Given the description of an element on the screen output the (x, y) to click on. 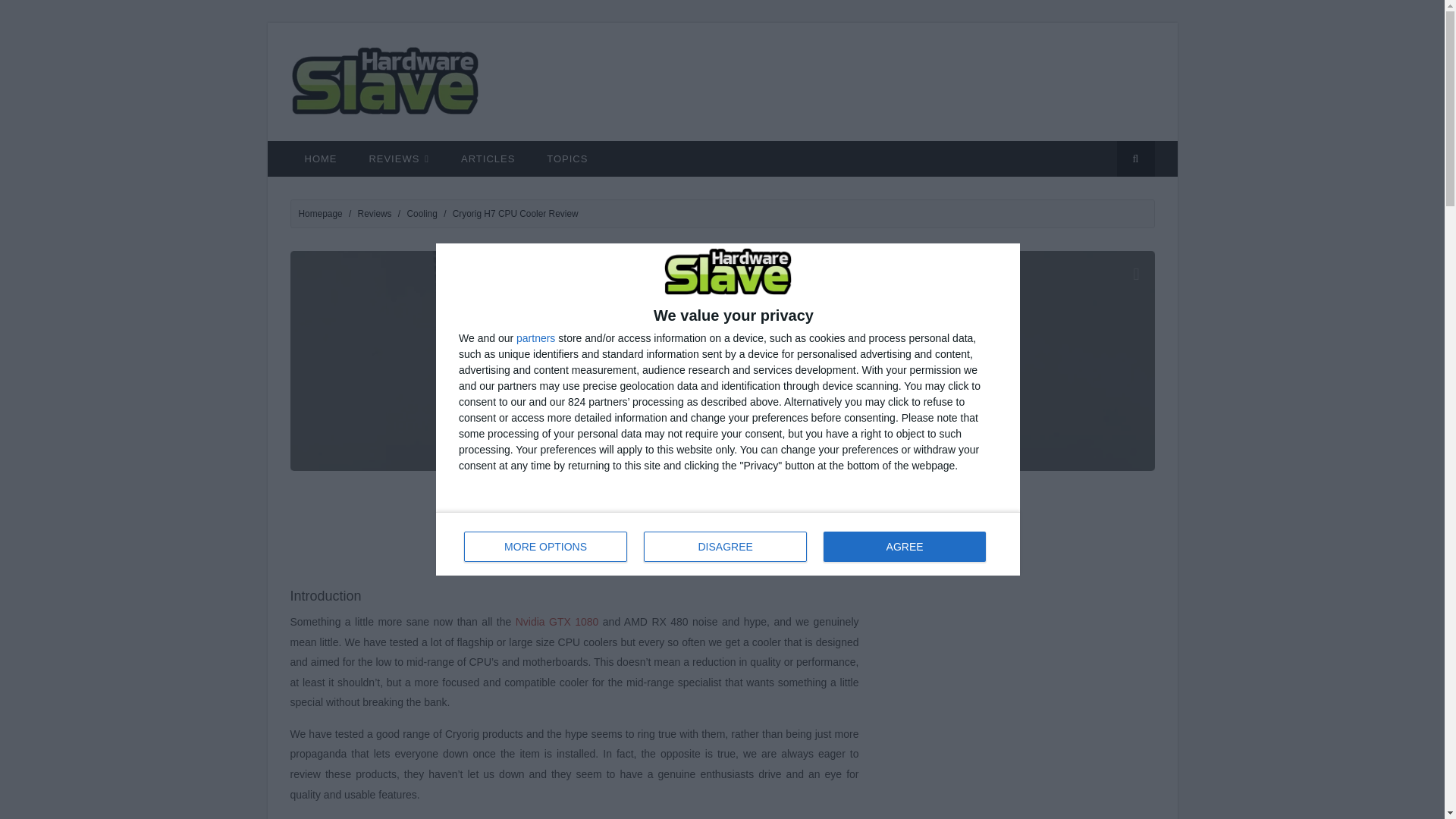
REVIEWS (398, 158)
Homepage (320, 213)
AGREE (904, 546)
partners (535, 337)
Cooling (421, 213)
Cooling (657, 405)
Created on (727, 543)
Like (728, 405)
DISAGREE (839, 405)
